Given the description of an element on the screen output the (x, y) to click on. 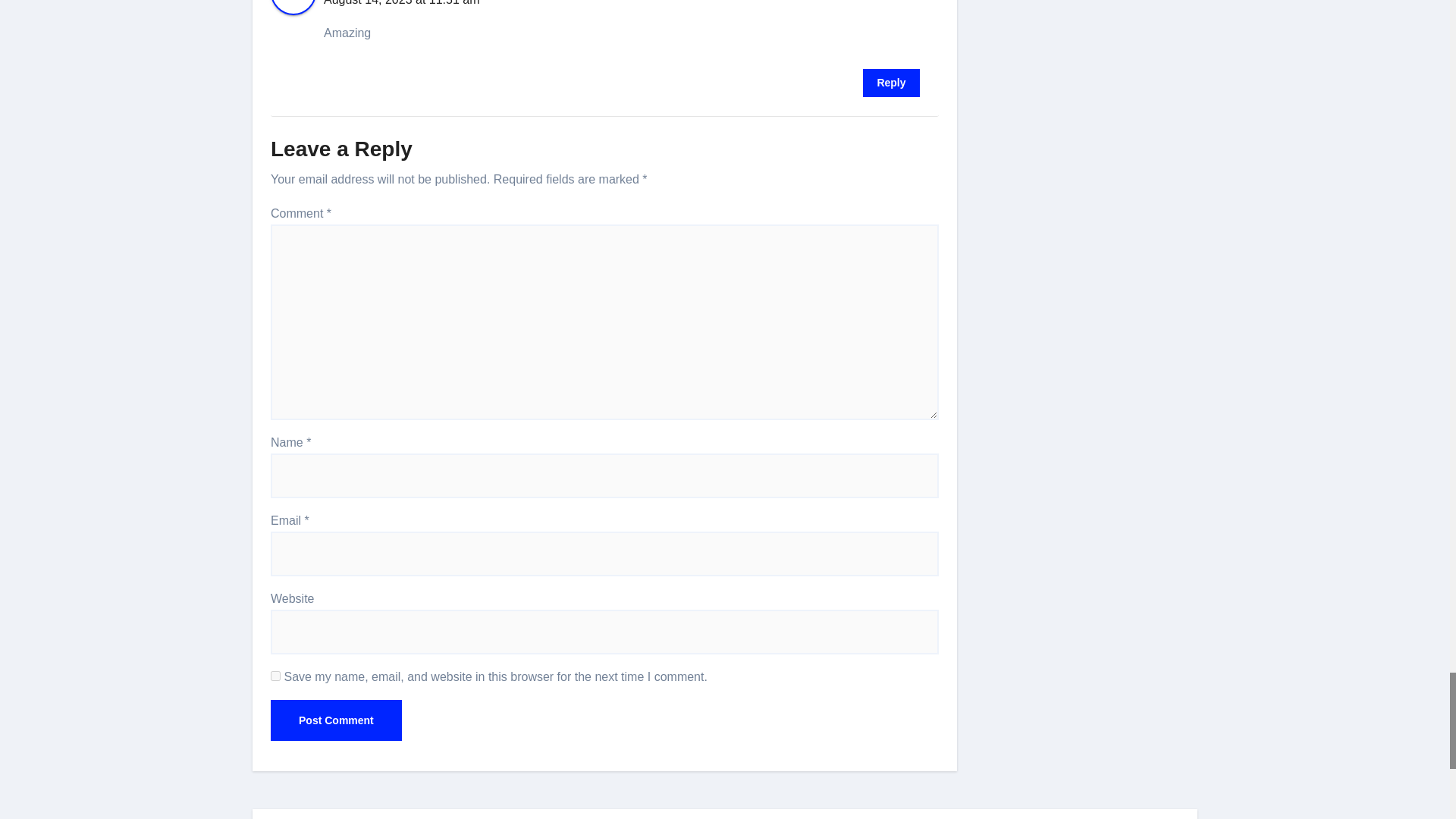
yes (275, 675)
Post Comment (335, 720)
